Given the description of an element on the screen output the (x, y) to click on. 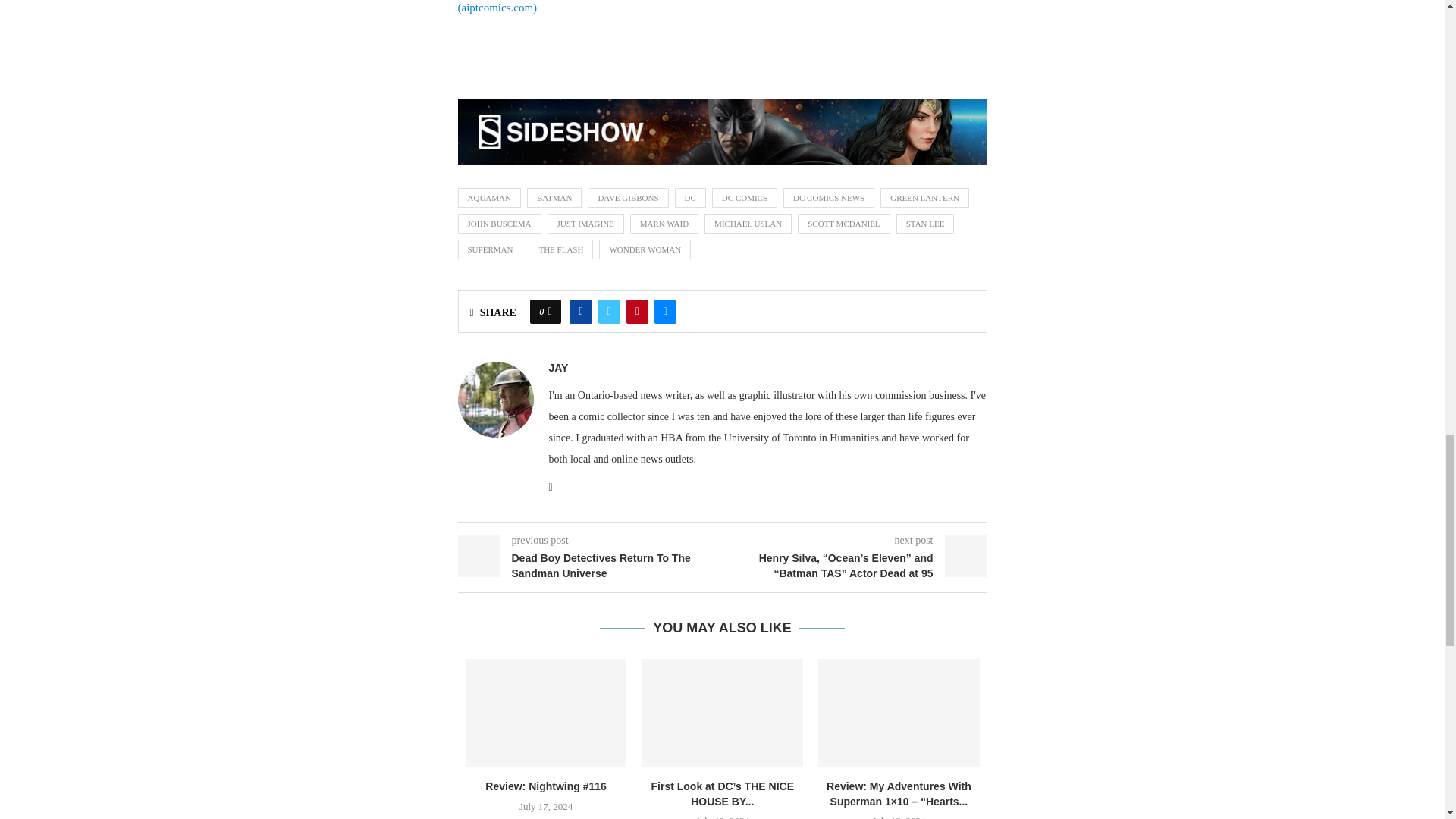
Author Jay (558, 367)
